Given the description of an element on the screen output the (x, y) to click on. 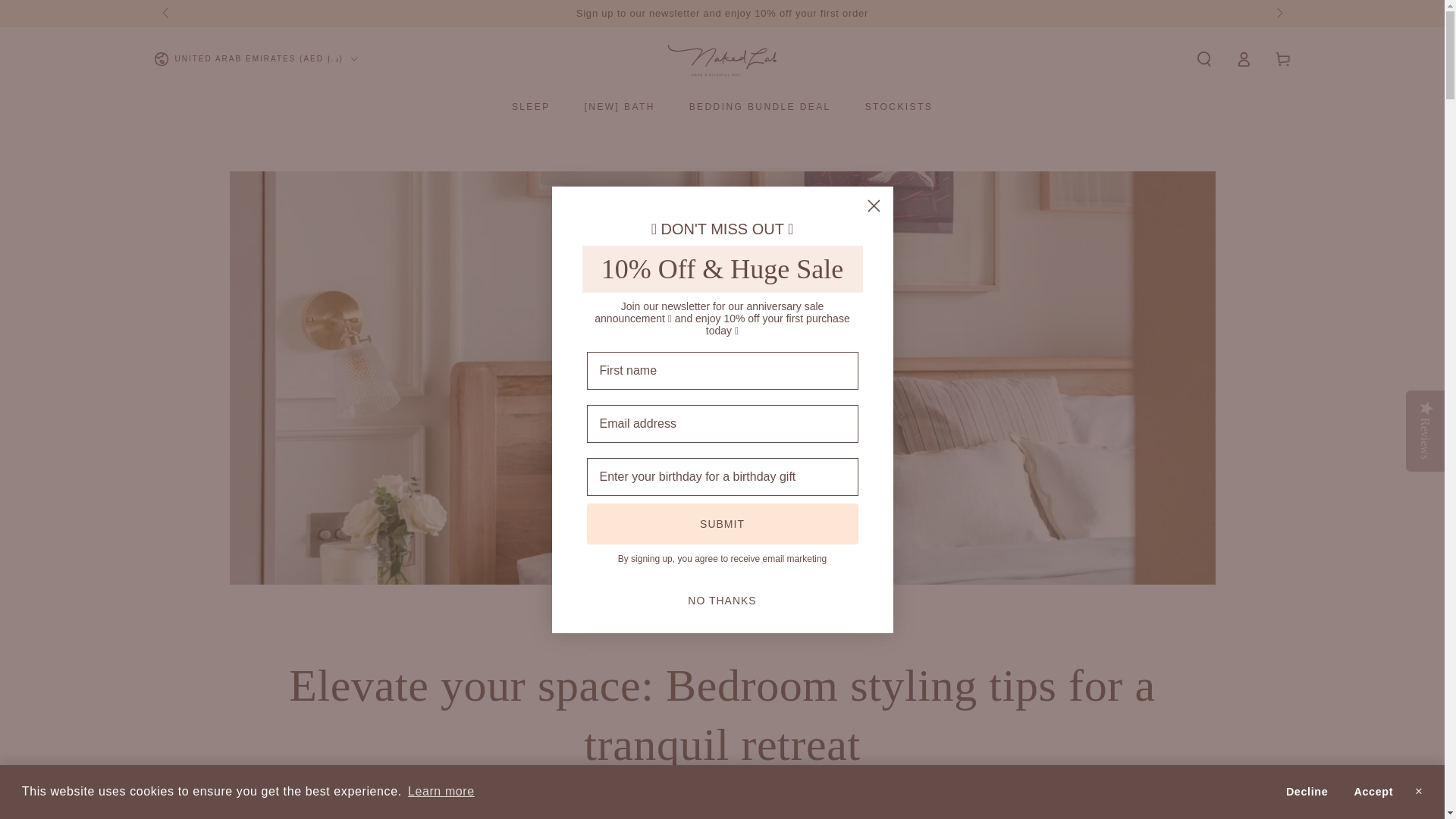
Back to the frontpage (701, 627)
SKIP TO CONTENT (67, 14)
SLEEP (531, 106)
Decline (1306, 791)
Accept (1373, 791)
Learn more (441, 791)
